Given the description of an element on the screen output the (x, y) to click on. 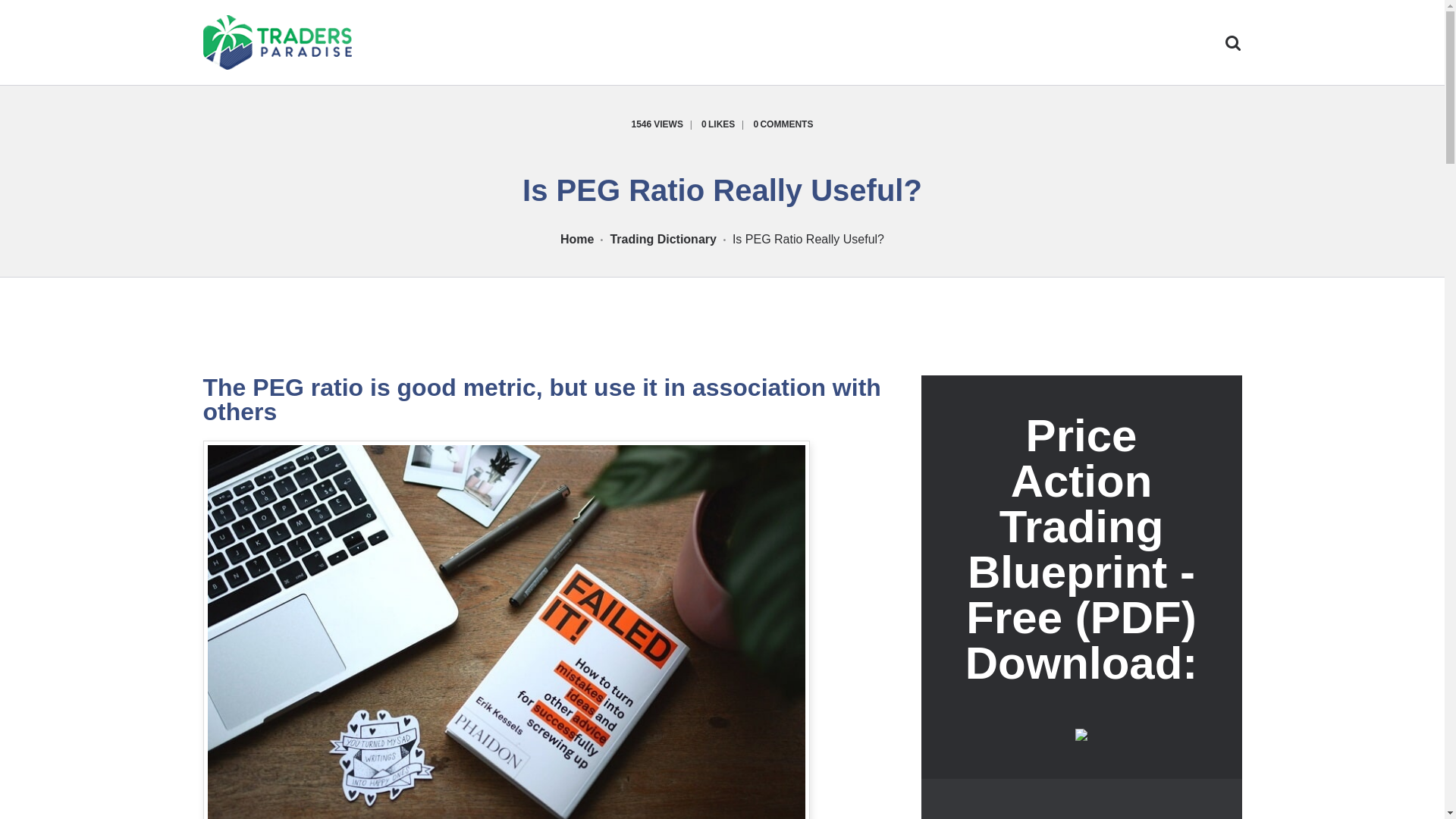
0LIKES (726, 123)
Home (577, 239)
0COMMENTS (782, 123)
Trading Dictionary (663, 238)
Like (726, 123)
